Given the description of an element on the screen output the (x, y) to click on. 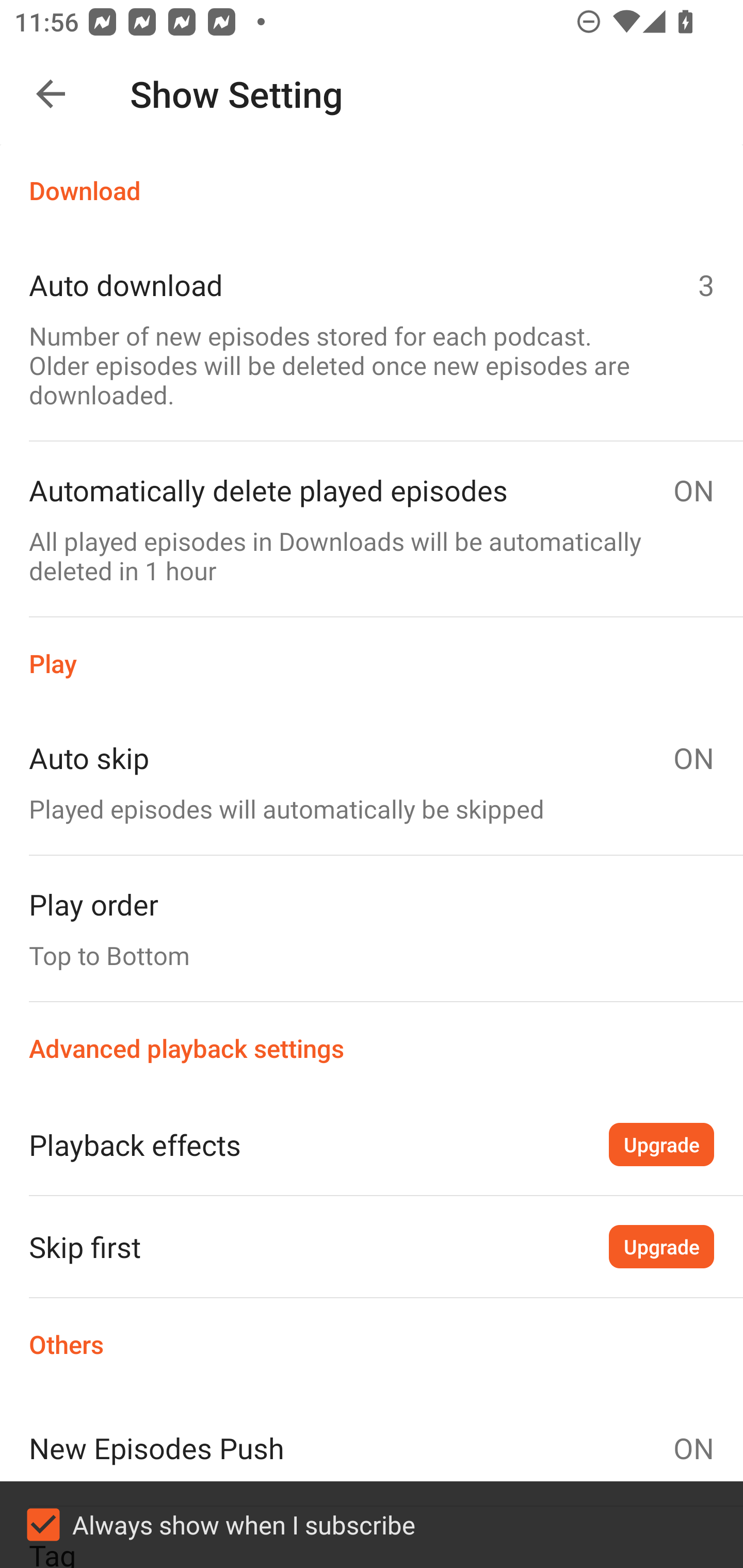
Navigate up (50, 93)
Play order Top to Bottom (371, 928)
Playback effects Upgrade (371, 1144)
Skip first Upgrade (371, 1246)
New Episodes Push ON (371, 1447)
Always show when I subscribe (371, 1524)
